Given the description of an element on the screen output the (x, y) to click on. 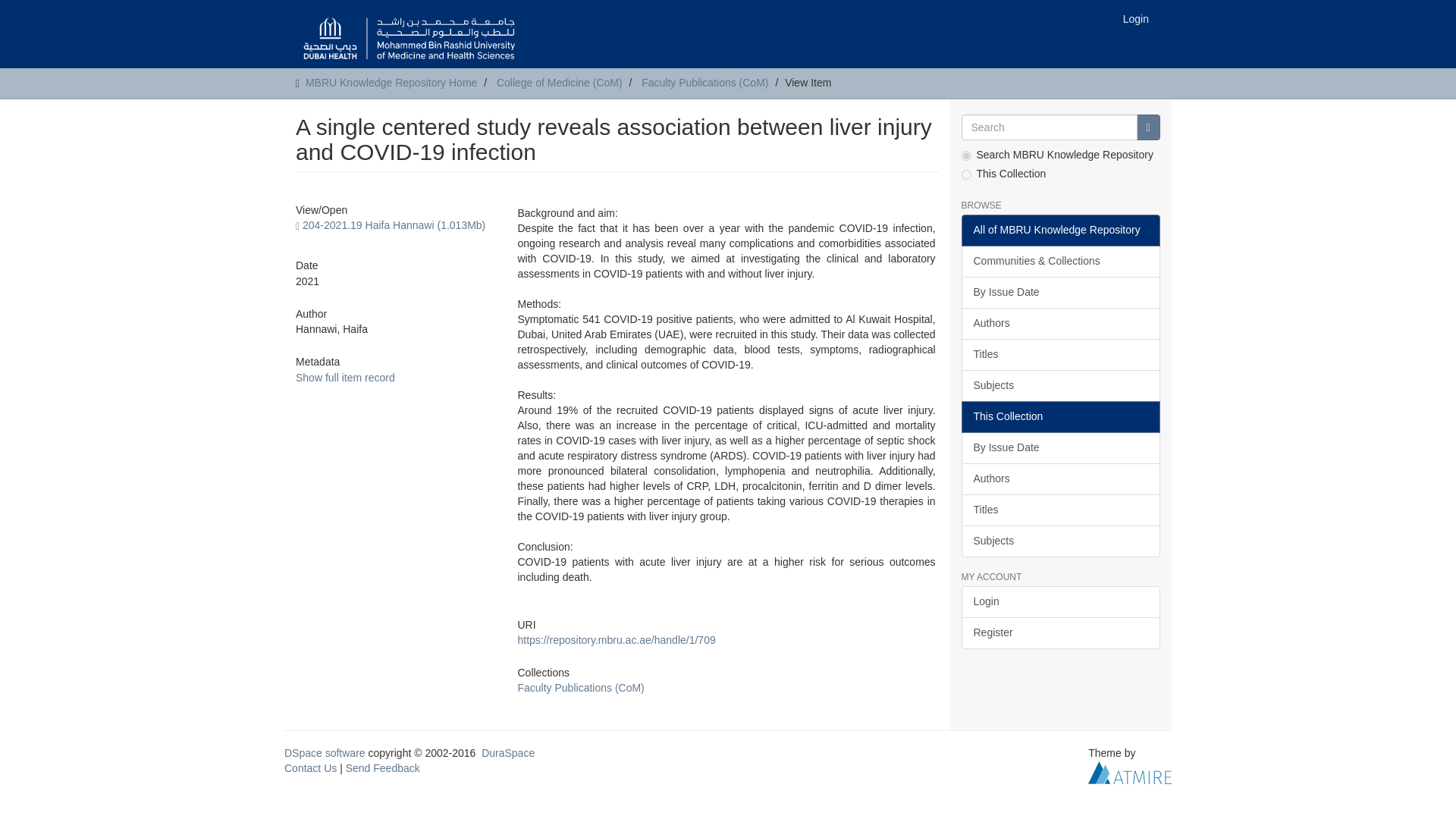
DuraSpace (507, 752)
Login (1060, 602)
All of MBRU Knowledge Repository (1060, 230)
Authors (1060, 323)
Login (1136, 18)
Contact Us (309, 767)
Atmire NV (1129, 771)
By Issue Date (1060, 292)
Register (1060, 633)
Titles (1060, 510)
